Given the description of an element on the screen output the (x, y) to click on. 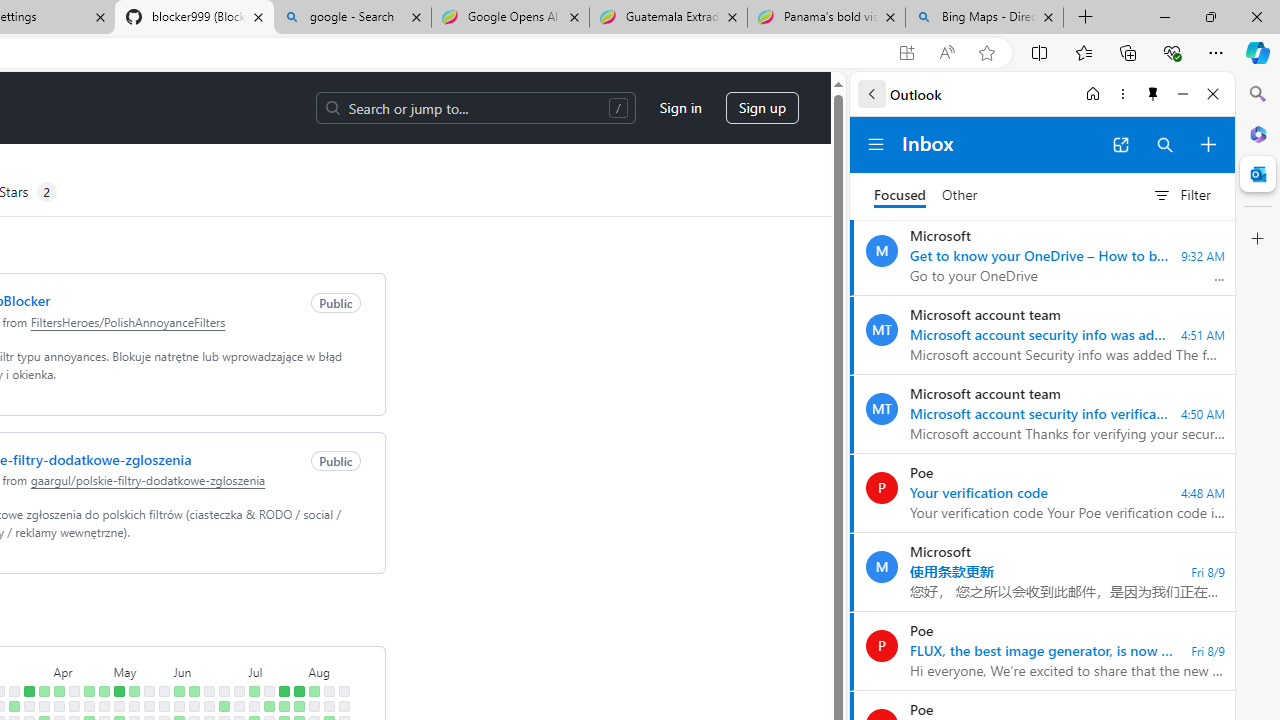
Focused Inbox, toggle to go to Other Inbox (925, 195)
App available. Install GitHub (906, 53)
2 contributions on June 9th. (193, 691)
July (276, 670)
No contributions on July 14th. (268, 691)
10 contributions on July 21st. (283, 691)
